Given the description of an element on the screen output the (x, y) to click on. 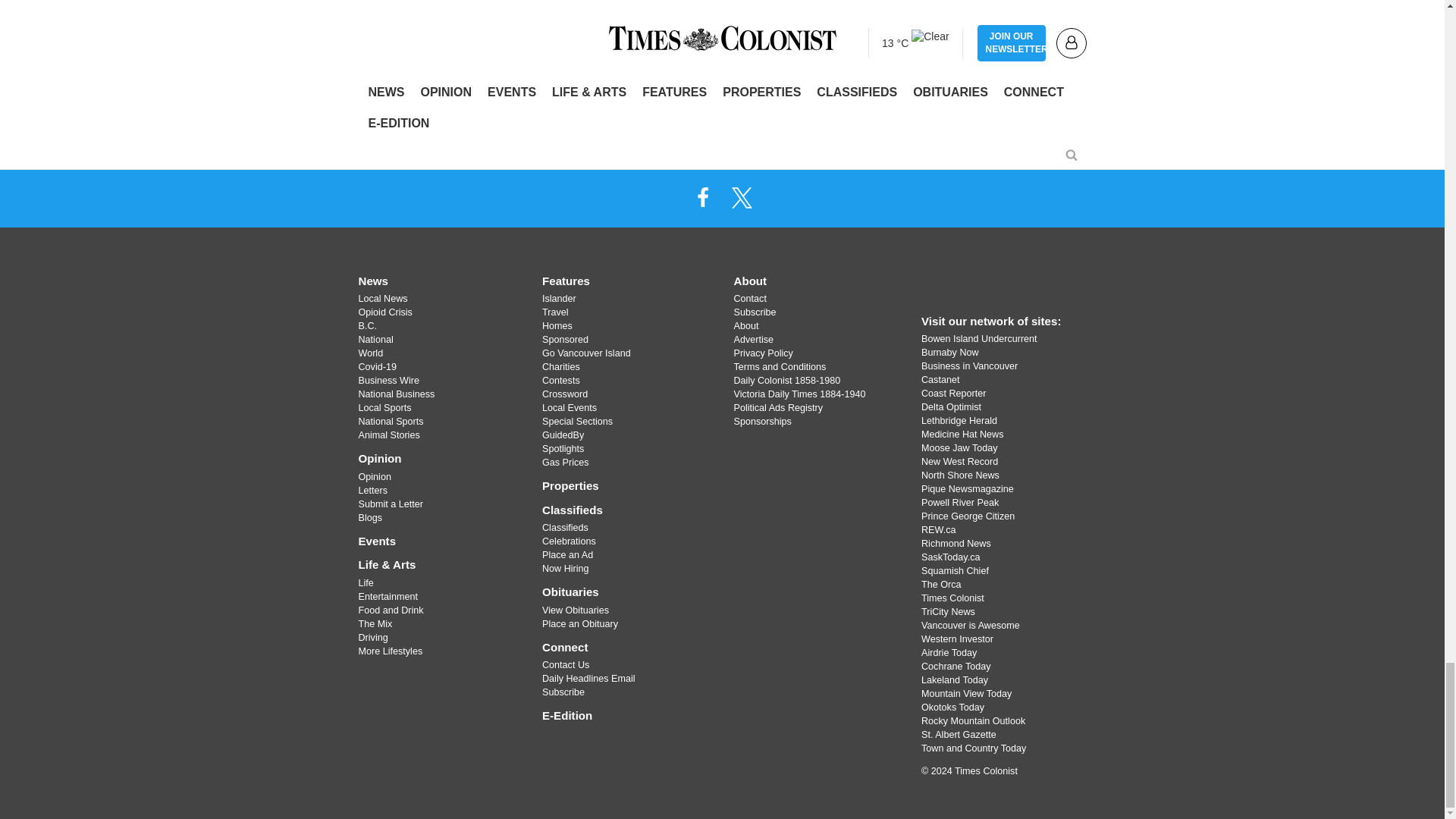
Facebook (702, 196)
X (741, 196)
